Given the description of an element on the screen output the (x, y) to click on. 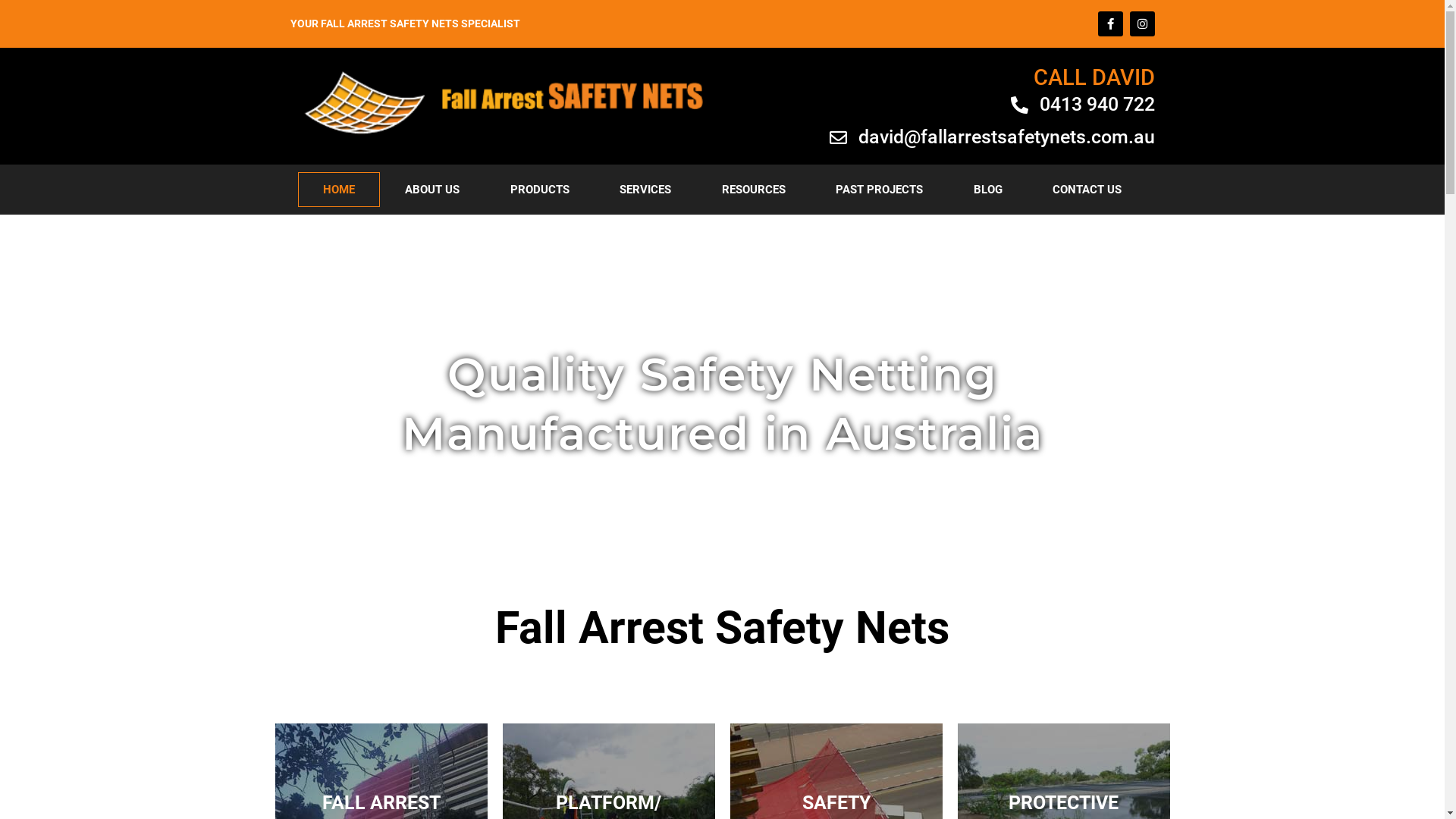
PRODUCTS Element type: text (540, 189)
HOME Element type: text (338, 189)
PAST PROJECTS Element type: text (879, 189)
CONTACT US Element type: text (1087, 189)
SERVICES Element type: text (645, 189)
RESOURCES Element type: text (753, 189)
BLOG Element type: text (987, 189)
ABOUT US Element type: text (432, 189)
